Given the description of an element on the screen output the (x, y) to click on. 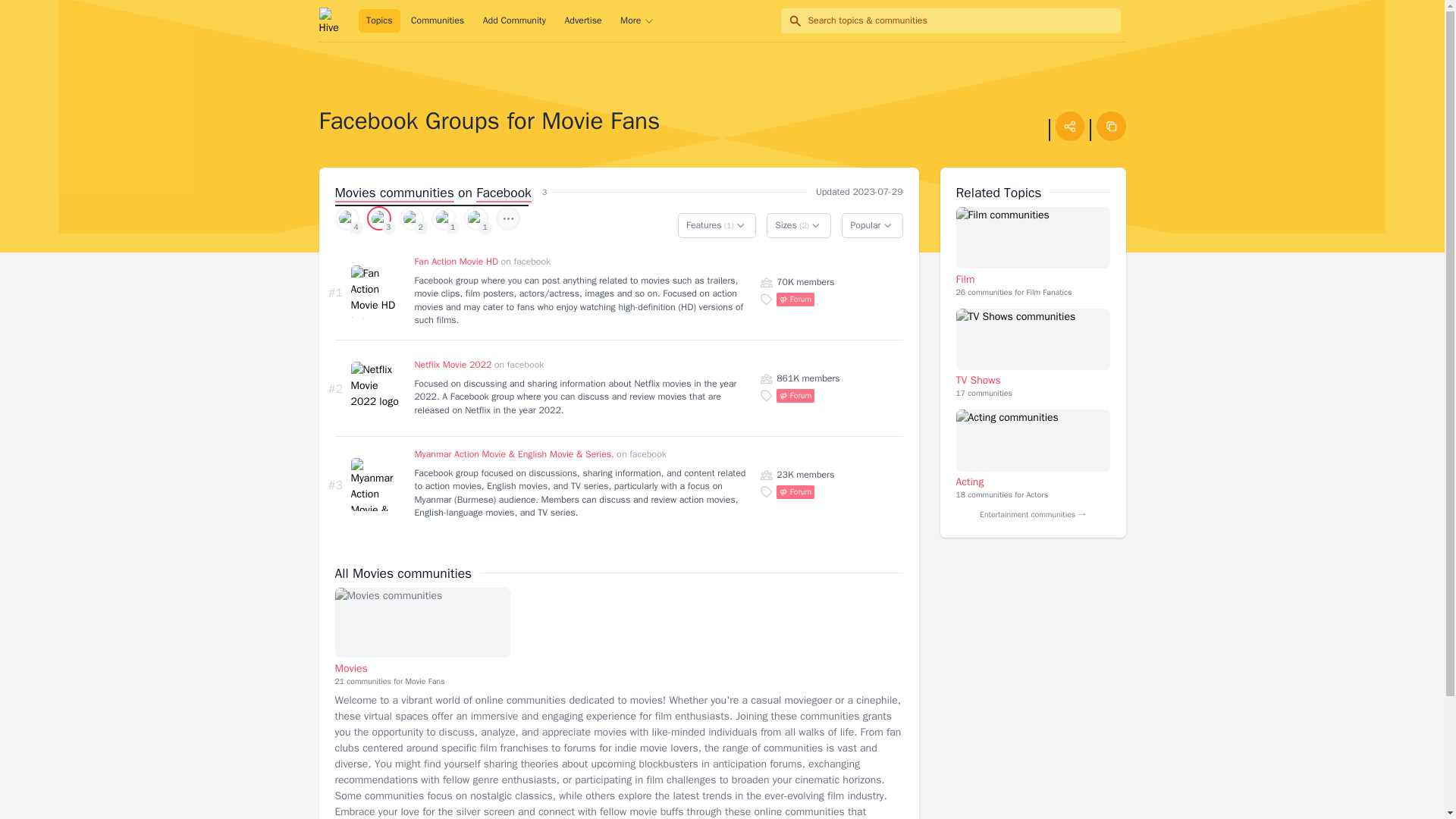
3 (378, 218)
1 (475, 218)
2 (410, 218)
Advertise (583, 21)
View details for Movies (422, 622)
Movies communities (394, 192)
Communities (422, 637)
1 (437, 21)
4 (442, 218)
View details for Film (346, 218)
Facebook (1032, 454)
More (1032, 237)
